Given the description of an element on the screen output the (x, y) to click on. 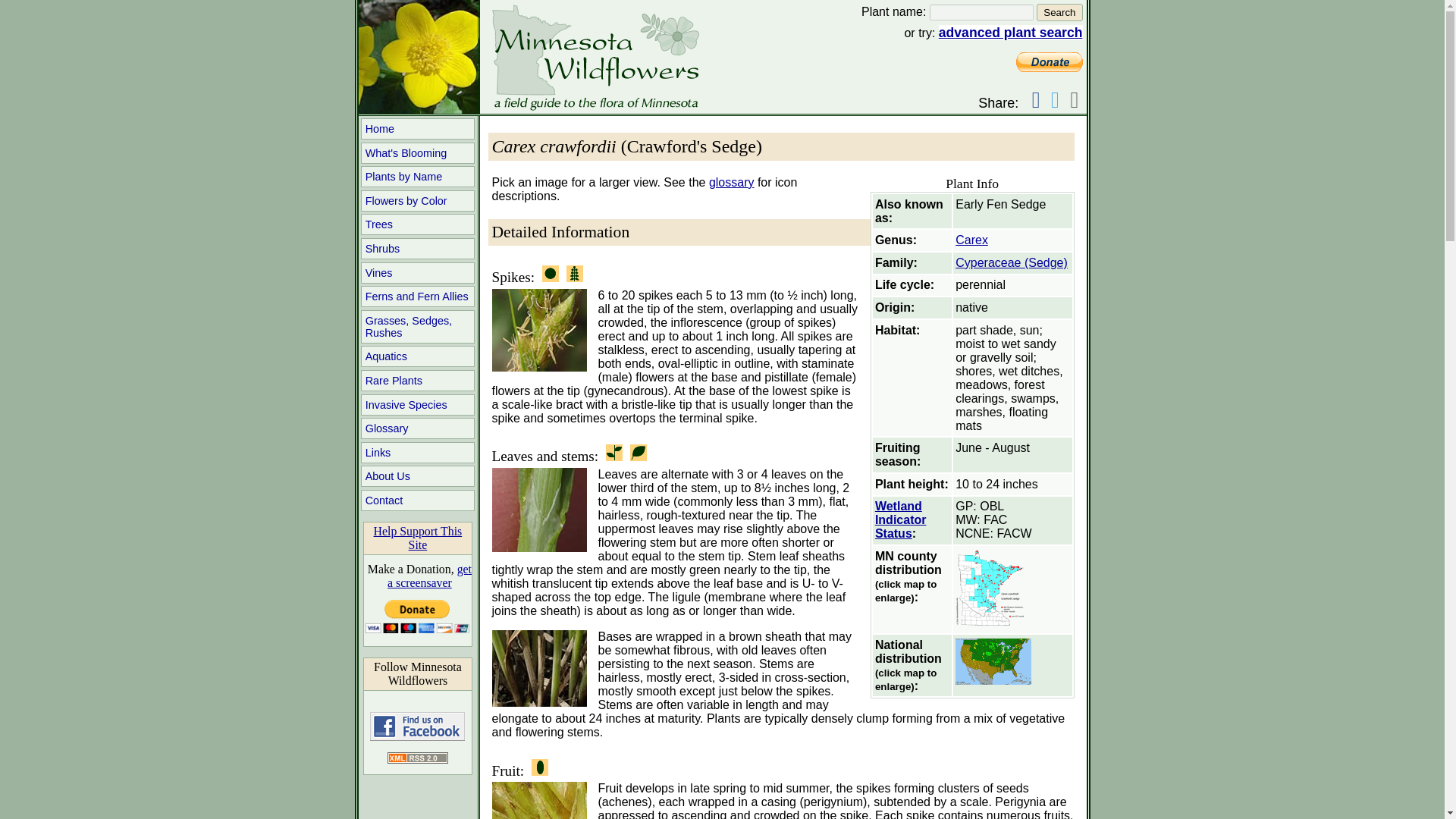
What's Blooming (417, 152)
Leaf type: simple (638, 452)
Search (1058, 12)
advanced plant search (1011, 32)
Cluster type: spike (574, 273)
Wetland Indicator Status (900, 519)
glossary (731, 182)
Search (1058, 12)
Leaf attachment: alternate (614, 452)
Carex (971, 239)
